Given the description of an element on the screen output the (x, y) to click on. 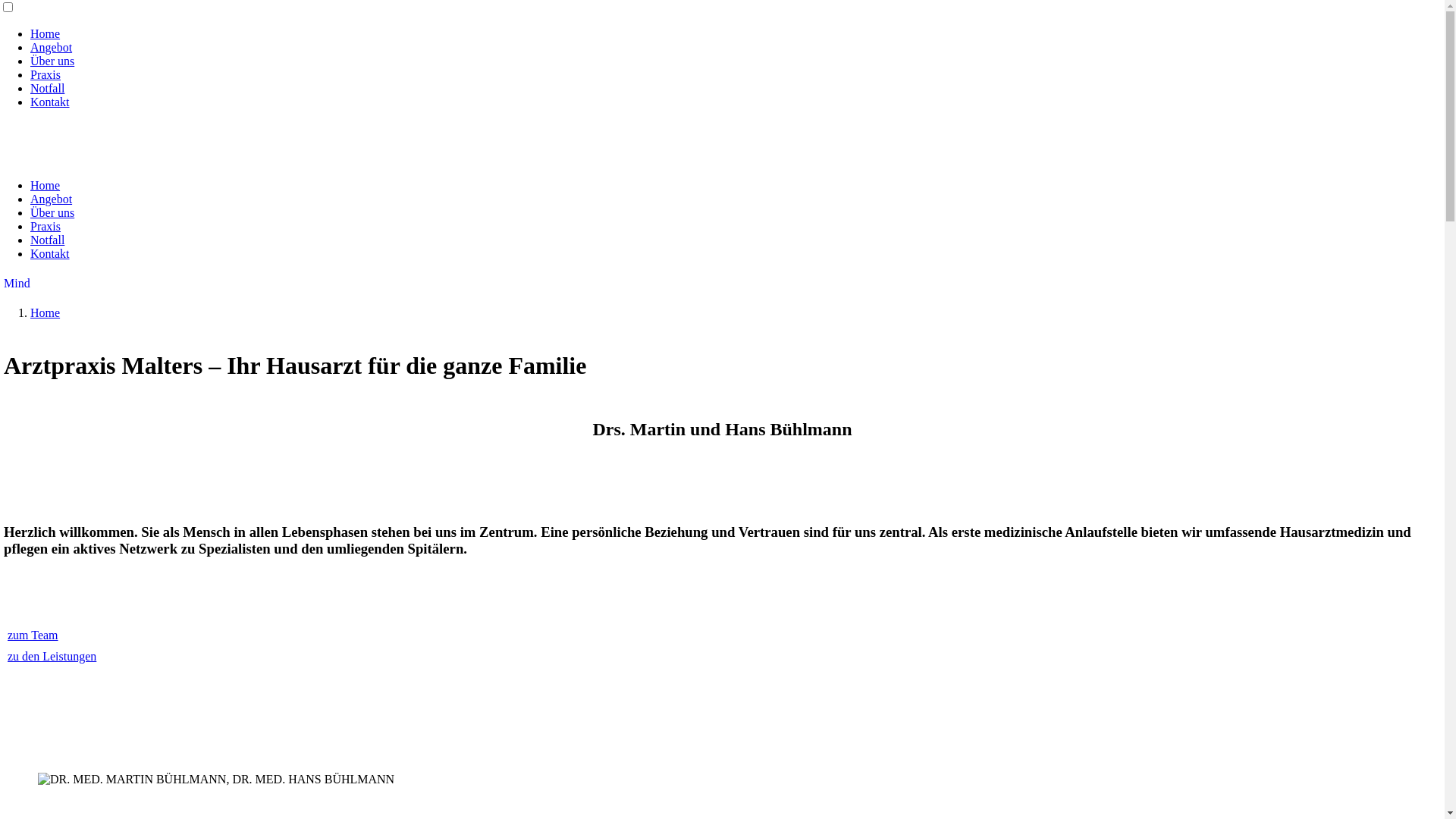
Praxis Element type: text (45, 74)
Mind Element type: text (16, 282)
Angebot Element type: text (51, 198)
Praxis Element type: text (45, 225)
Home Element type: text (44, 33)
Notfall Element type: text (47, 87)
Notfall Element type: text (47, 239)
Home Element type: text (44, 184)
zu den Leistungen Element type: text (51, 655)
Angebot Element type: text (51, 46)
Kontakt Element type: text (49, 101)
Home Element type: text (44, 312)
zum Team Element type: text (32, 634)
Kontakt Element type: text (49, 253)
